Given the description of an element on the screen output the (x, y) to click on. 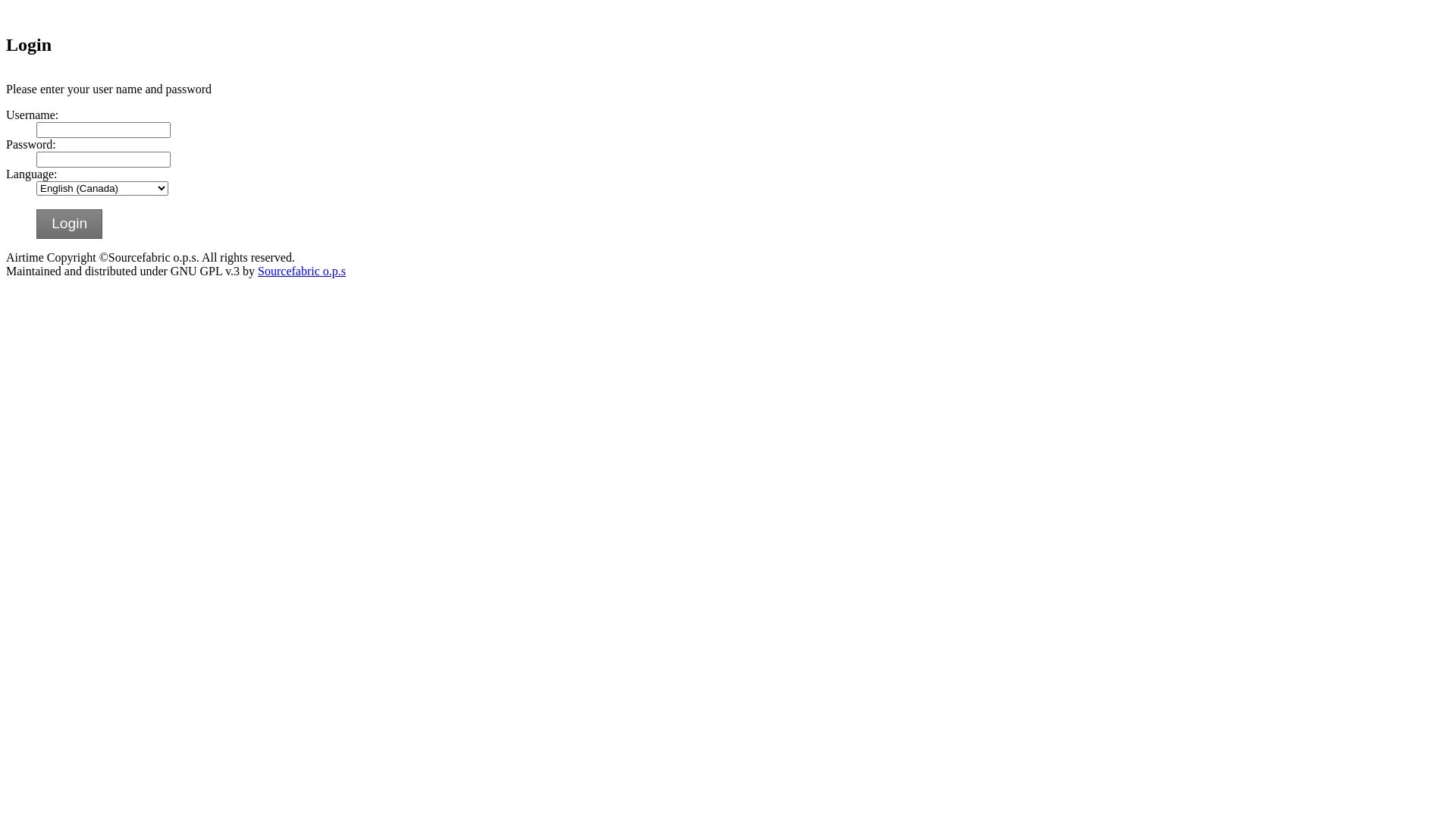
Sourcefabric o.p.s Element type: text (301, 270)
Login Element type: text (69, 223)
